Given the description of an element on the screen output the (x, y) to click on. 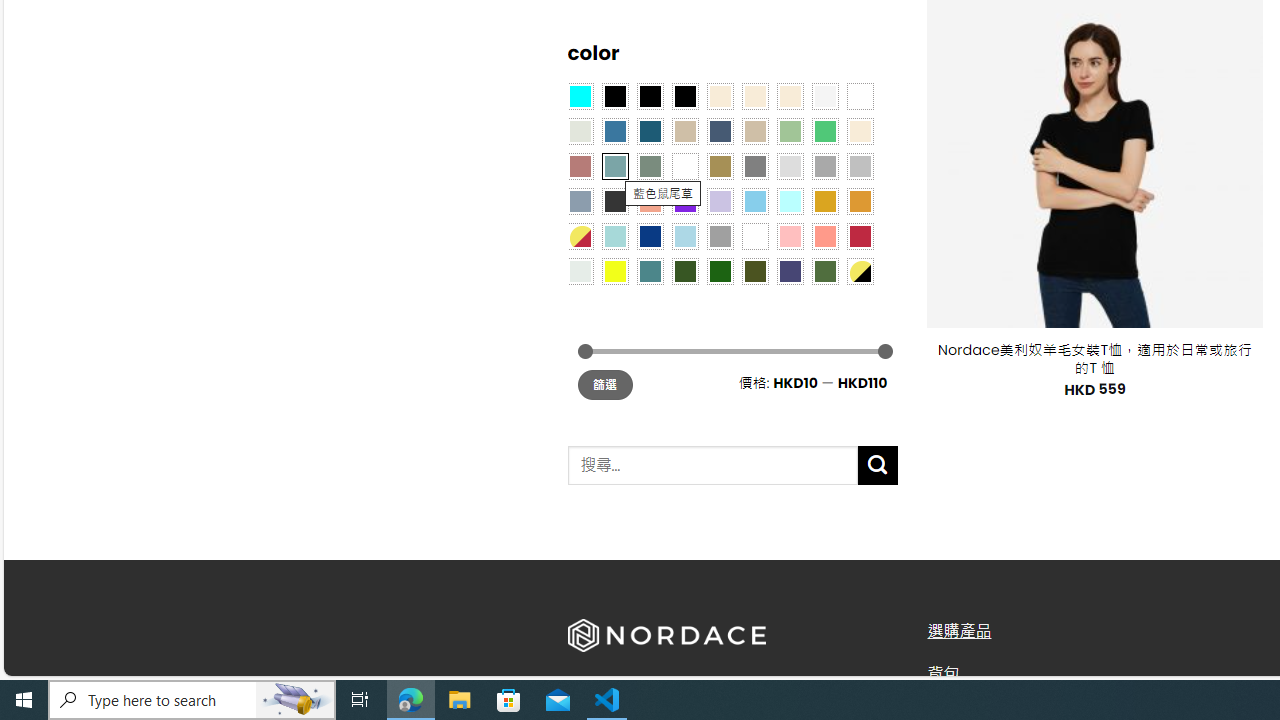
Cream (789, 95)
